Given the description of an element on the screen output the (x, y) to click on. 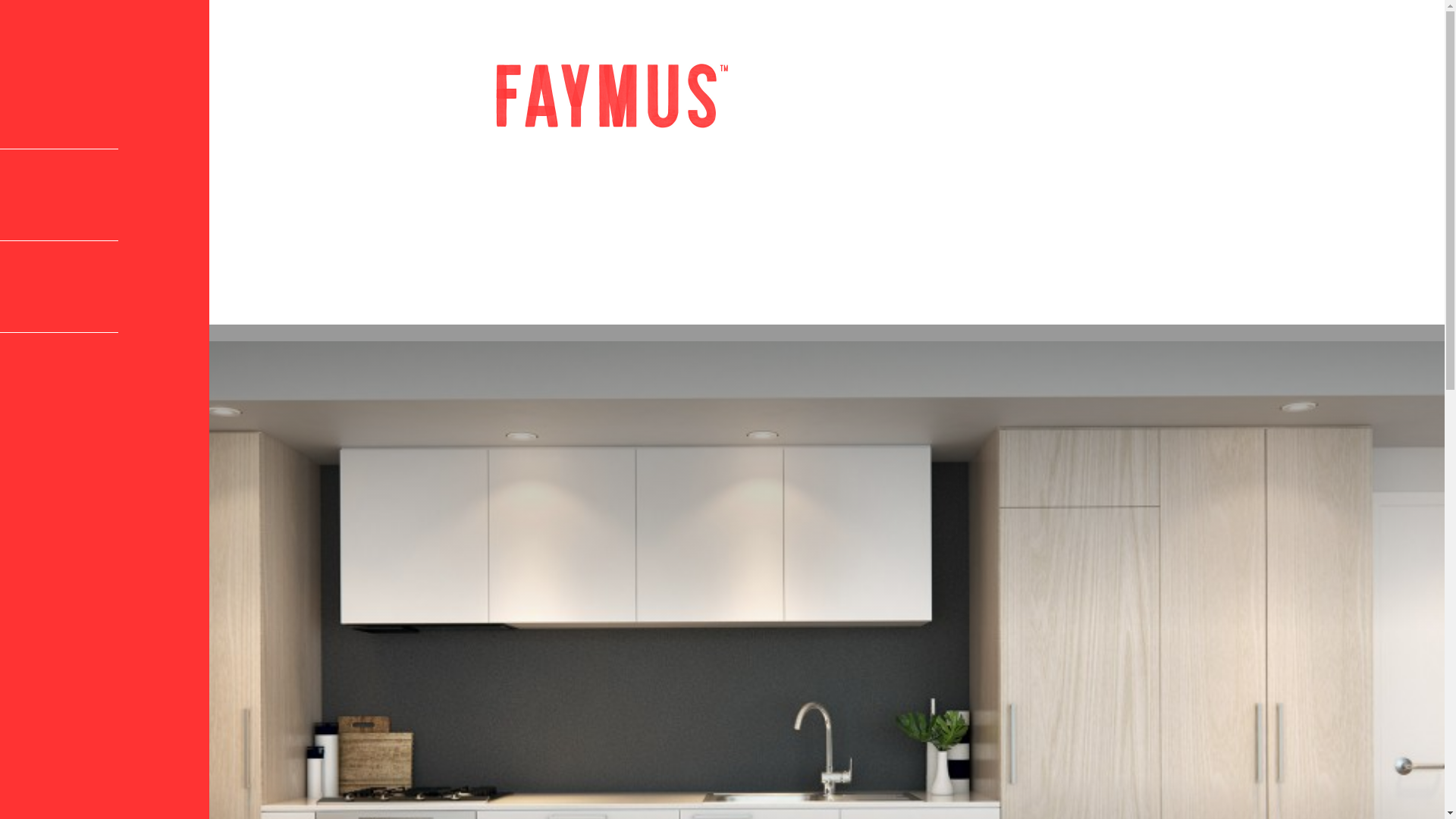
Toggle navigation Element type: text (39, 70)
